Given the description of an element on the screen output the (x, y) to click on. 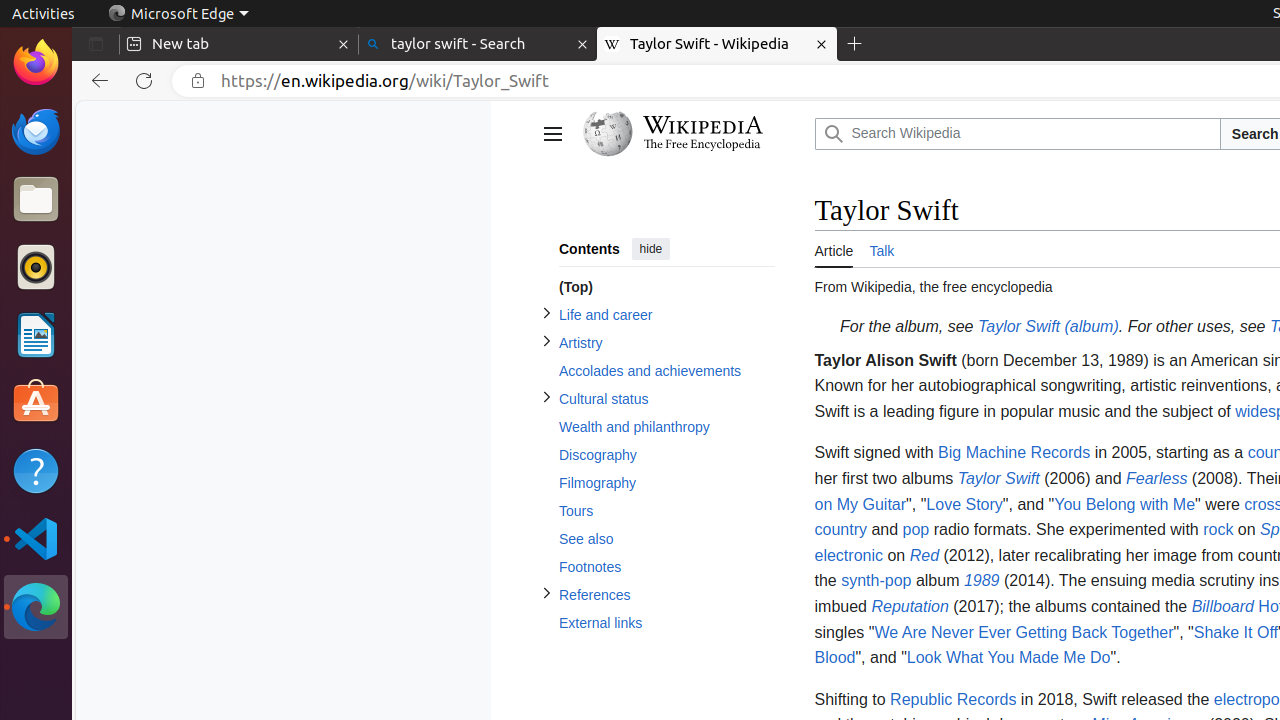
taylor swift - Search Element type: page-tab (478, 44)
